Given the description of an element on the screen output the (x, y) to click on. 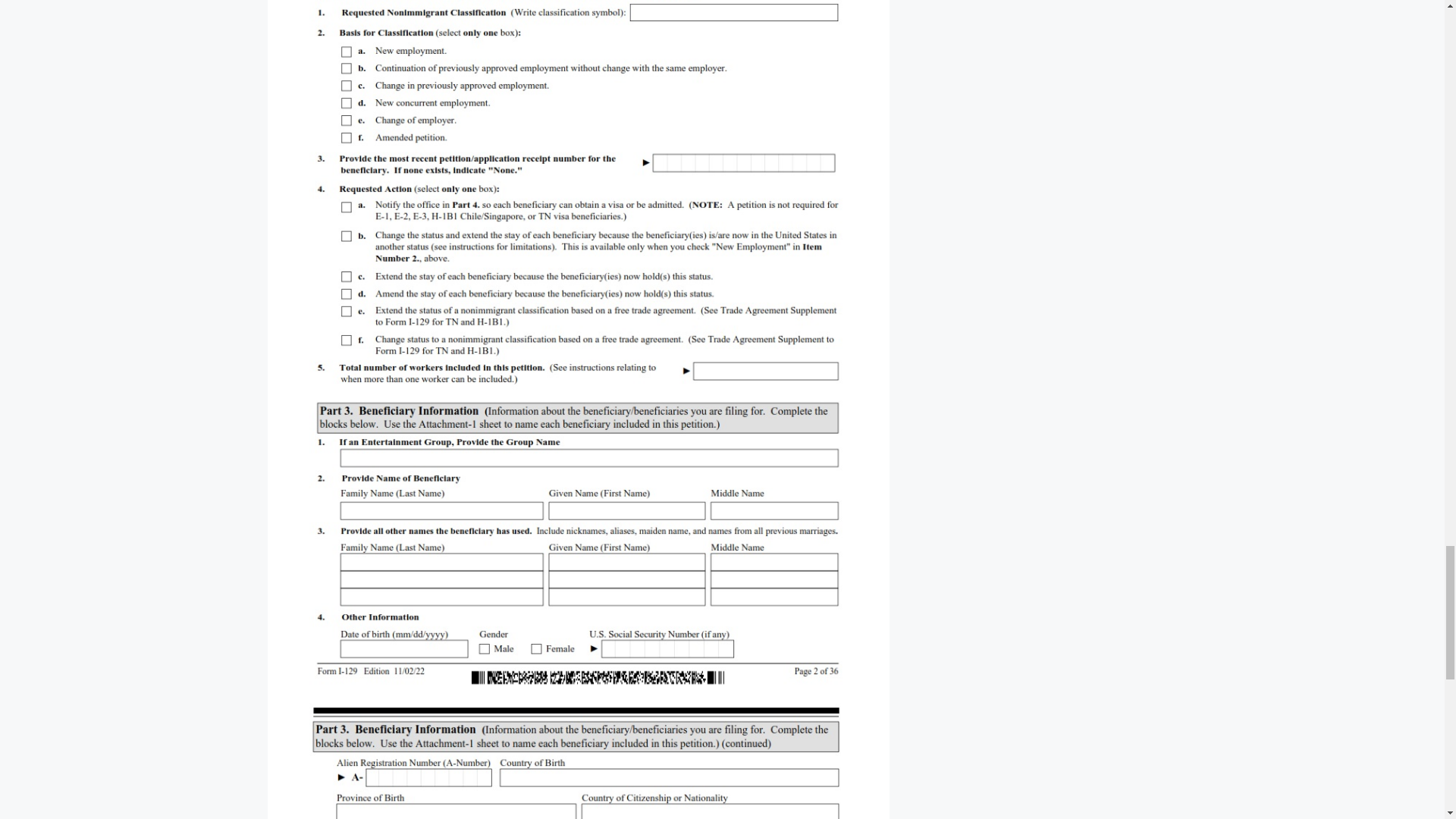
I 129 Form Page 3 (578, 755)
